Given the description of an element on the screen output the (x, y) to click on. 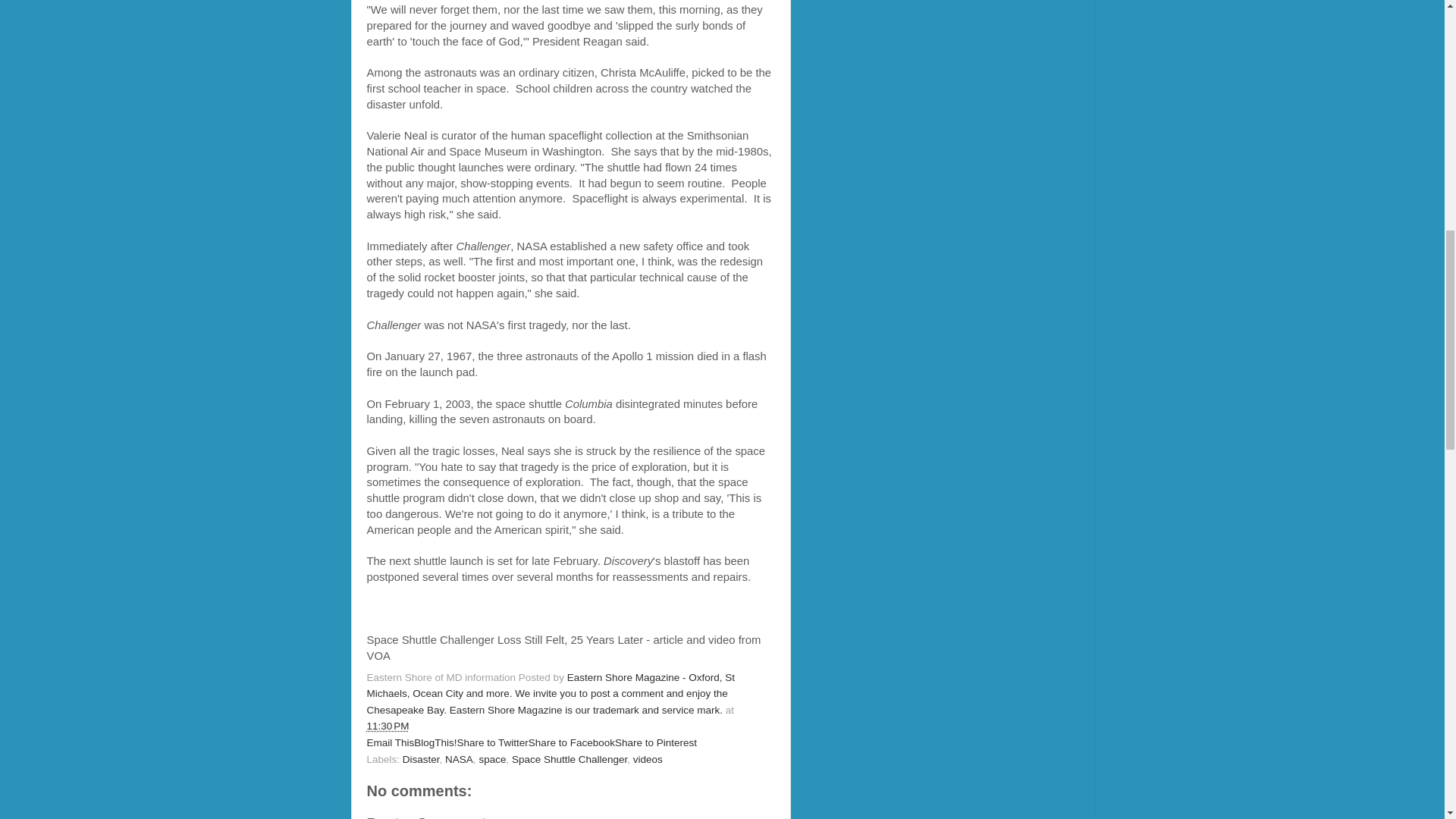
Share to Facebook (571, 742)
Space Shuttle Challenger (569, 758)
Share to Twitter (492, 742)
Email Post (418, 726)
permanent link (387, 726)
Share to Facebook (571, 742)
author profile (550, 693)
BlogThis! (435, 742)
videos (647, 758)
Share to Twitter (492, 742)
Share to Pinterest (655, 742)
space (492, 758)
Share to Pinterest (655, 742)
Email This (390, 742)
